Given the description of an element on the screen output the (x, y) to click on. 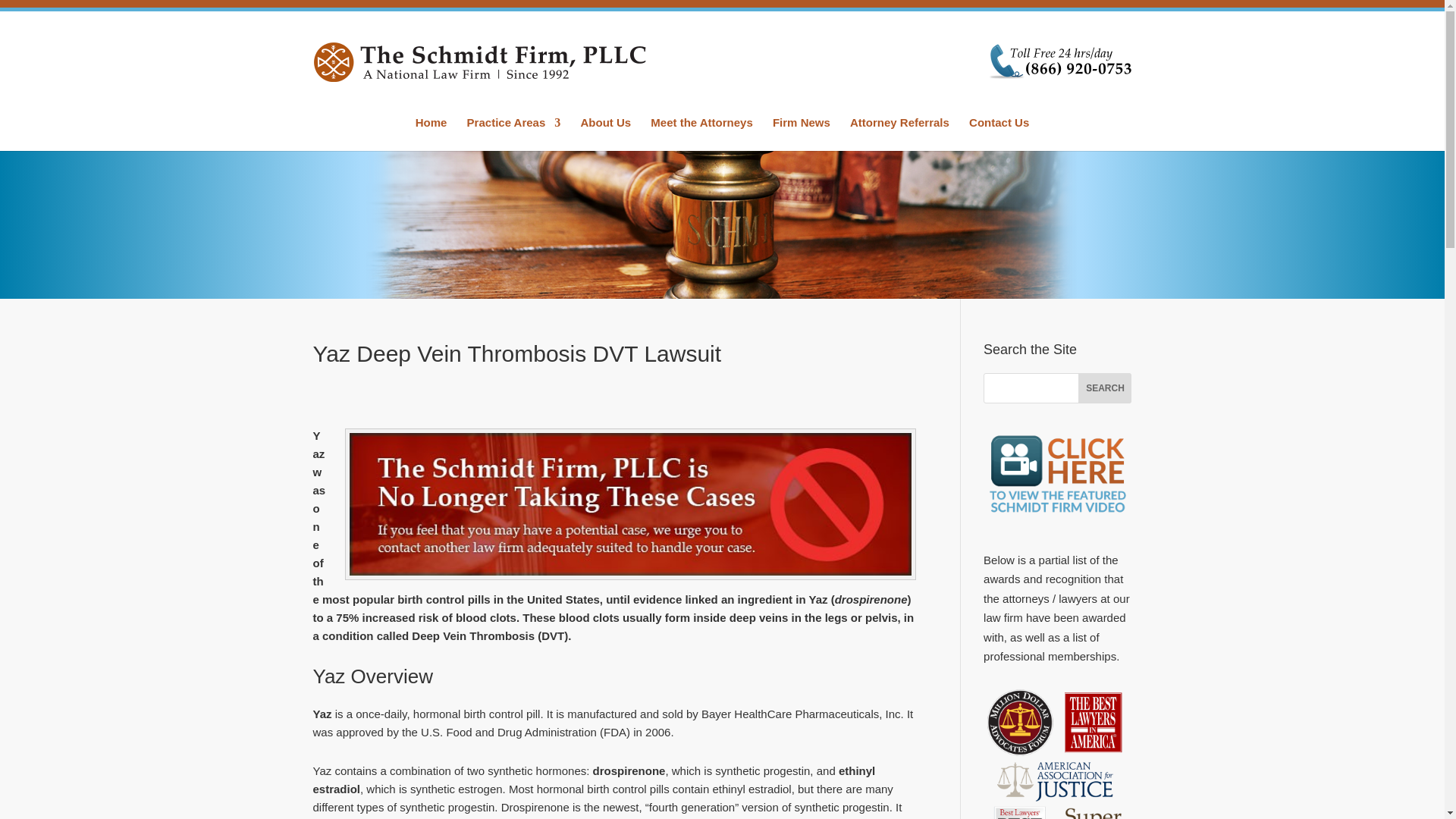
Contact Us (999, 133)
About Us (604, 133)
Search (1104, 388)
Practice Areas (513, 133)
Meet the Attorneys (701, 133)
Home (430, 133)
Firm News (801, 133)
Attorney Referrals (899, 133)
